Given the description of an element on the screen output the (x, y) to click on. 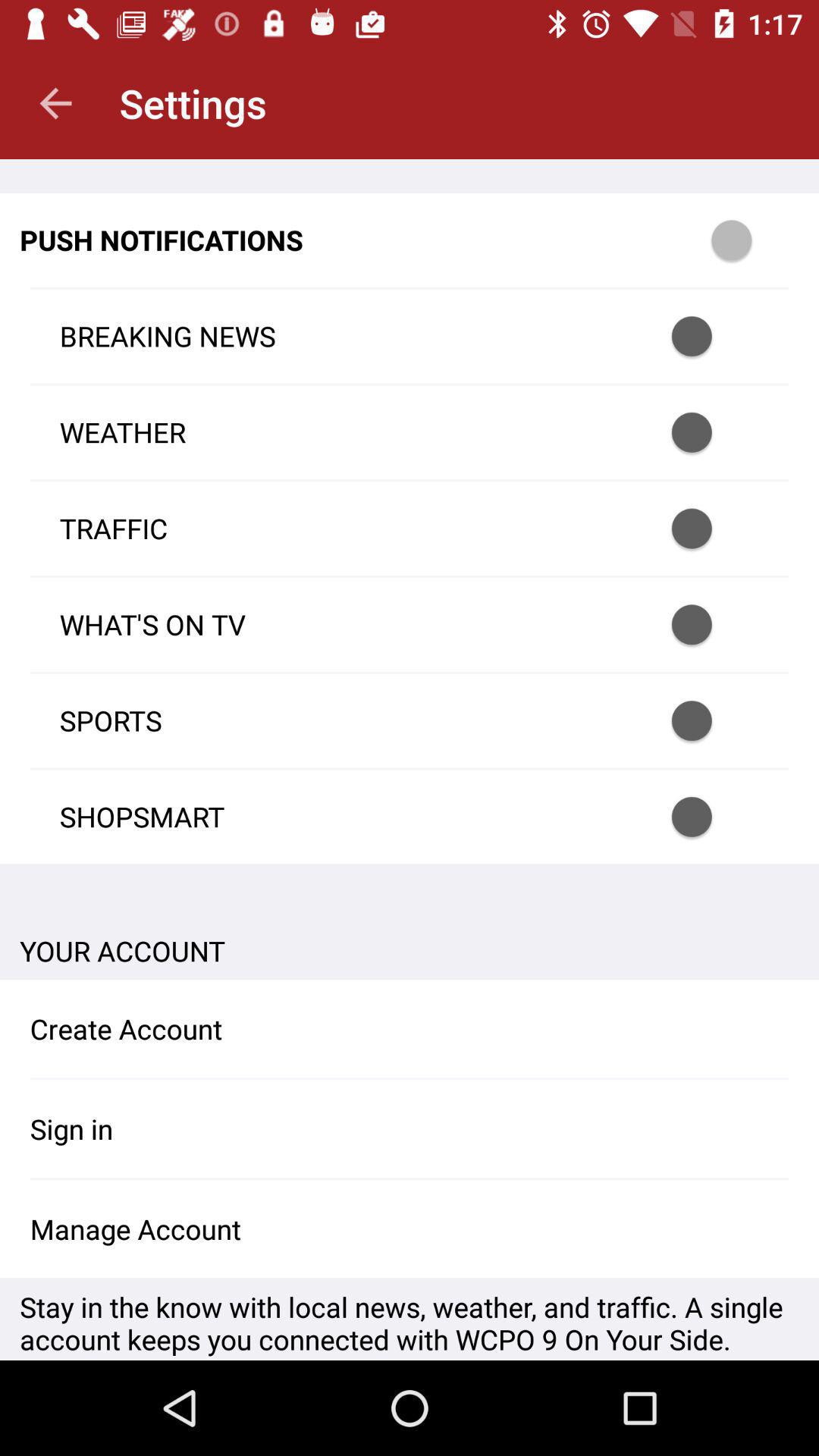
toggle notification option for weather (711, 432)
